Given the description of an element on the screen output the (x, y) to click on. 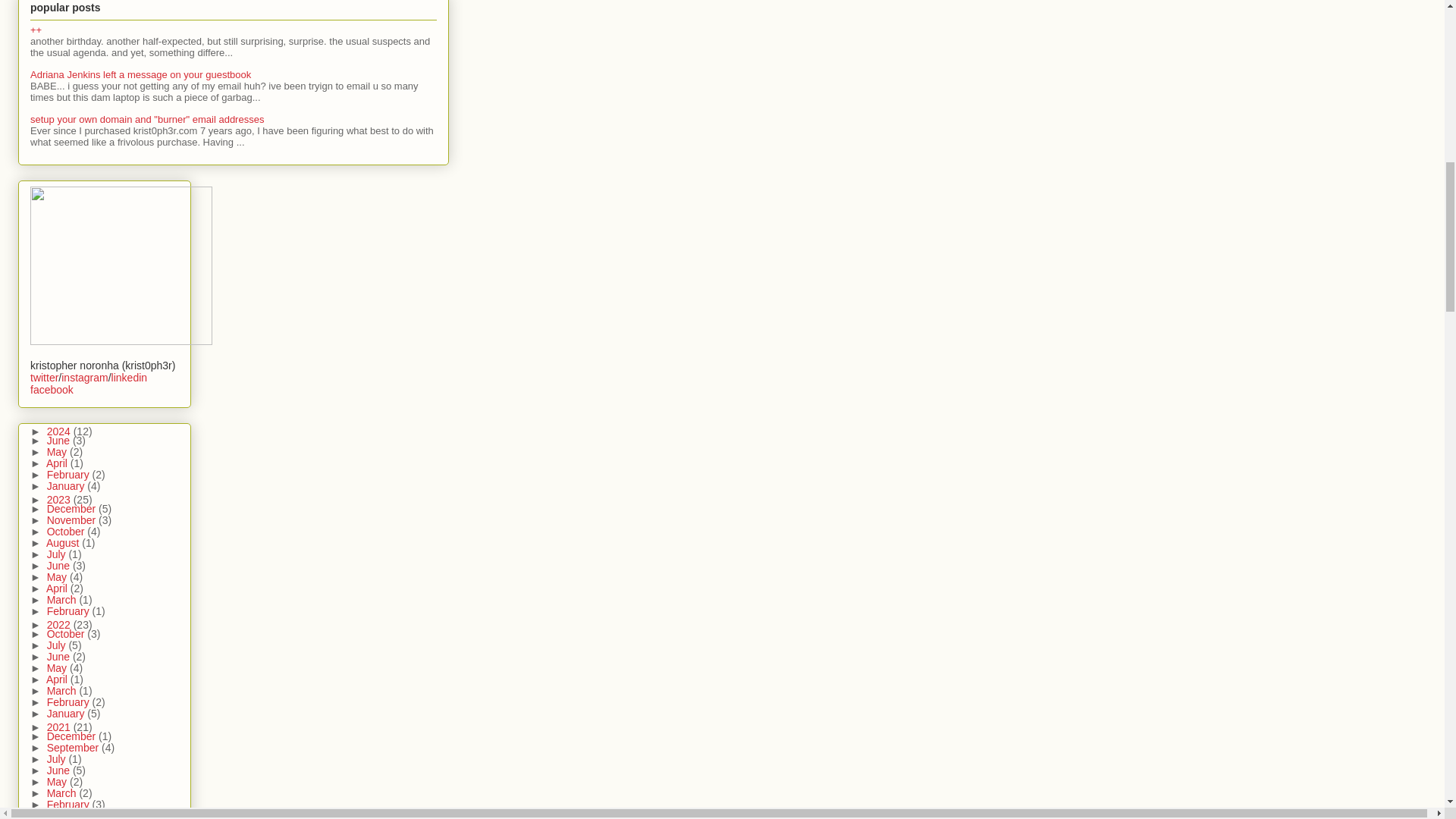
instagram (84, 377)
June (59, 440)
Adriana Jenkins left a message on your guestbook (140, 74)
setup your own domain and "burner" email addresses (146, 119)
May (57, 451)
February (69, 474)
April (57, 463)
linkedin (129, 377)
facebook (52, 389)
twitter (44, 377)
2024 (60, 431)
